Given the description of an element on the screen output the (x, y) to click on. 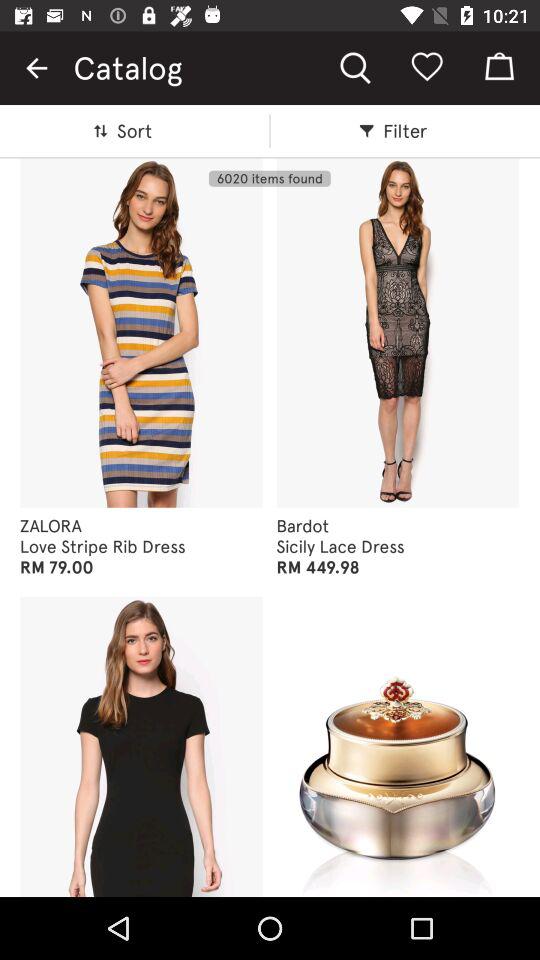
turn off item next to the catalog item (36, 68)
